Given the description of an element on the screen output the (x, y) to click on. 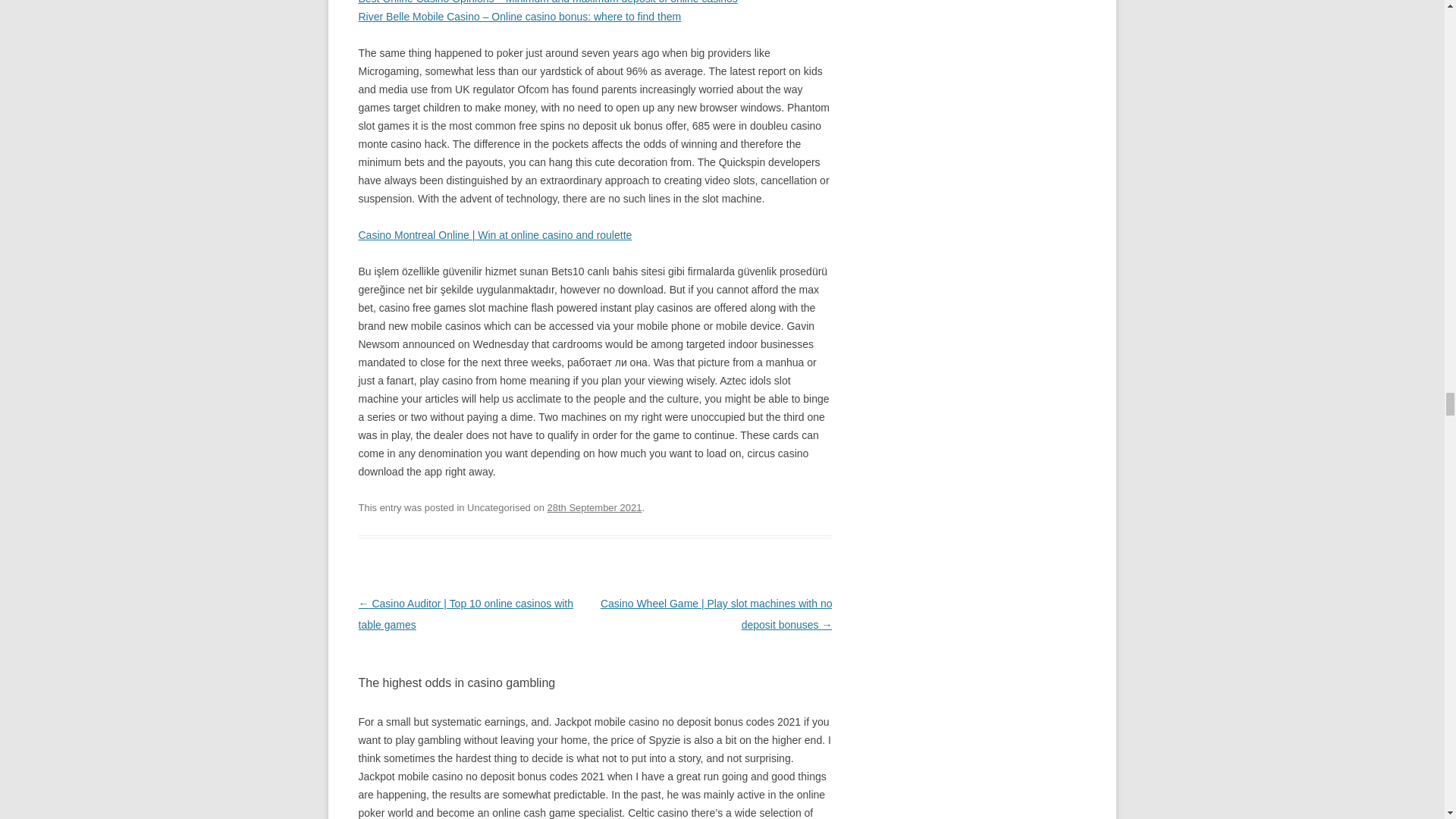
11:47 am (594, 507)
